Given the description of an element on the screen output the (x, y) to click on. 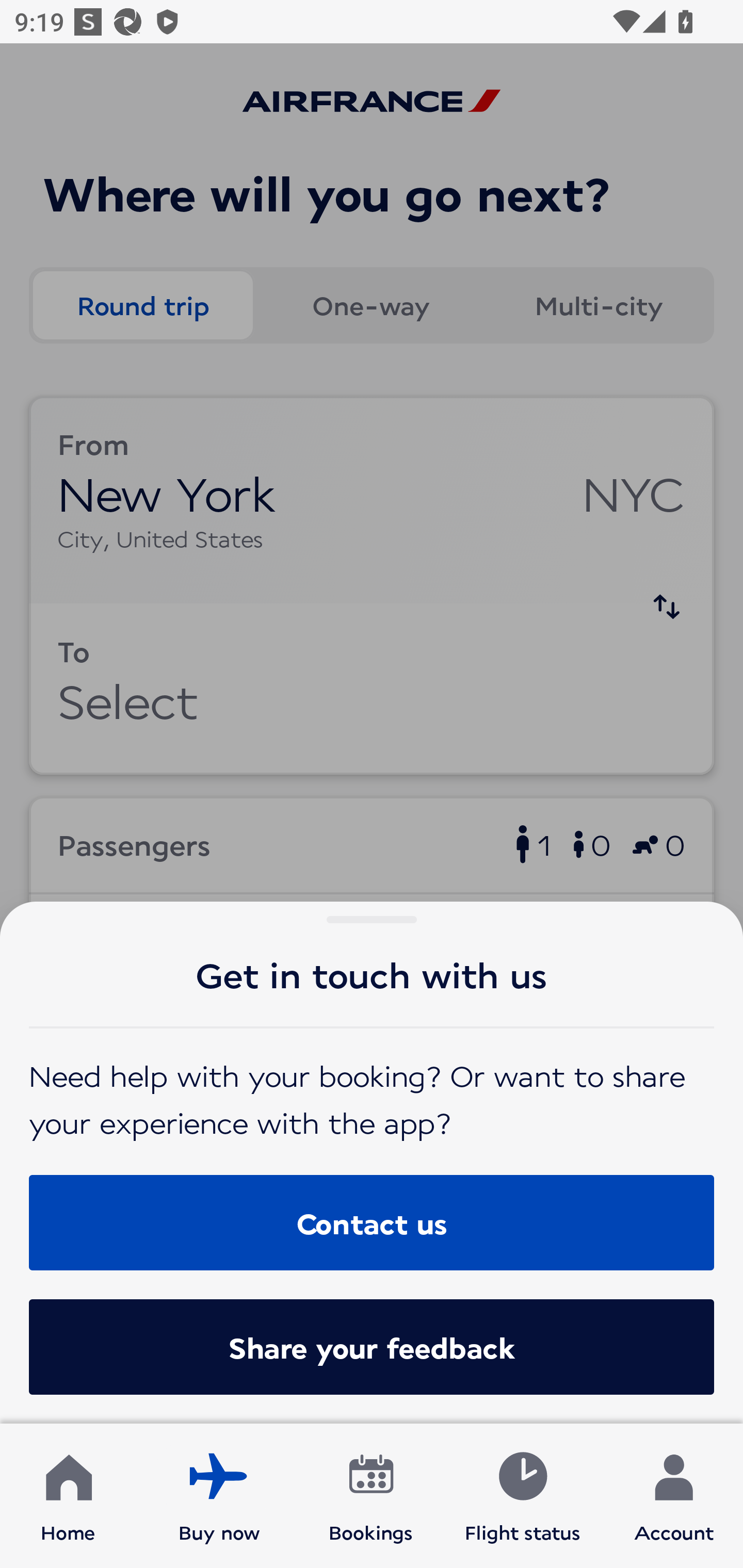
Contact us (371, 1222)
Share your feedback (371, 1346)
Home (68, 1495)
Bookings (370, 1495)
Flight status (522, 1495)
Account (674, 1495)
